Given the description of an element on the screen output the (x, y) to click on. 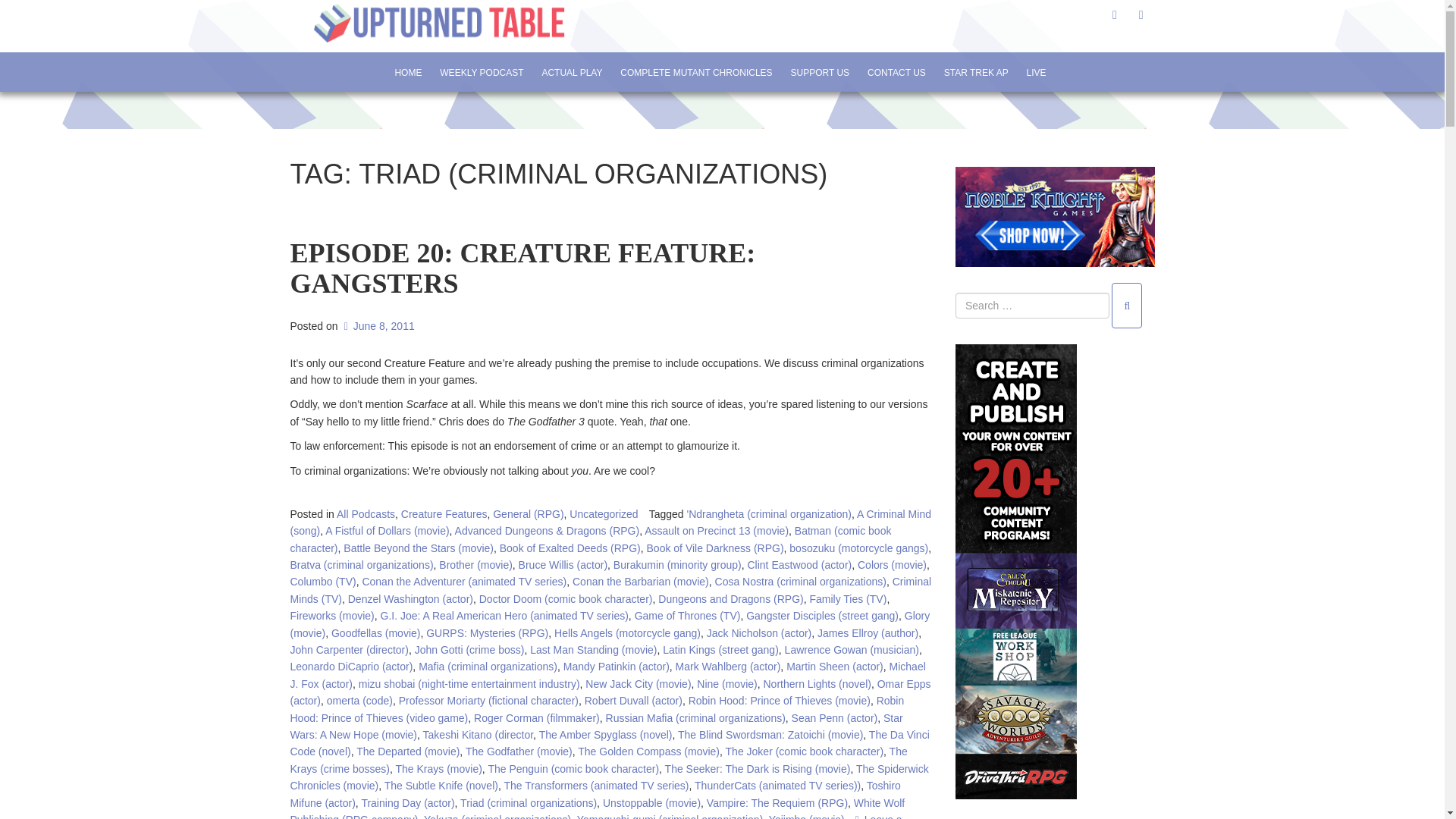
EPISODE 20: CREATURE FEATURE: GANGSTERS (522, 281)
LIVE (1036, 72)
June 8, 2011 (376, 326)
COMPLETE MUTANT CHRONICLES (695, 72)
WEEKLY PODCAST (481, 72)
INSTAGRAM (1141, 14)
ACTUAL PLAY (571, 72)
CONTACT US (896, 72)
HOME (407, 72)
SUPPORT US (820, 72)
